Given the description of an element on the screen output the (x, y) to click on. 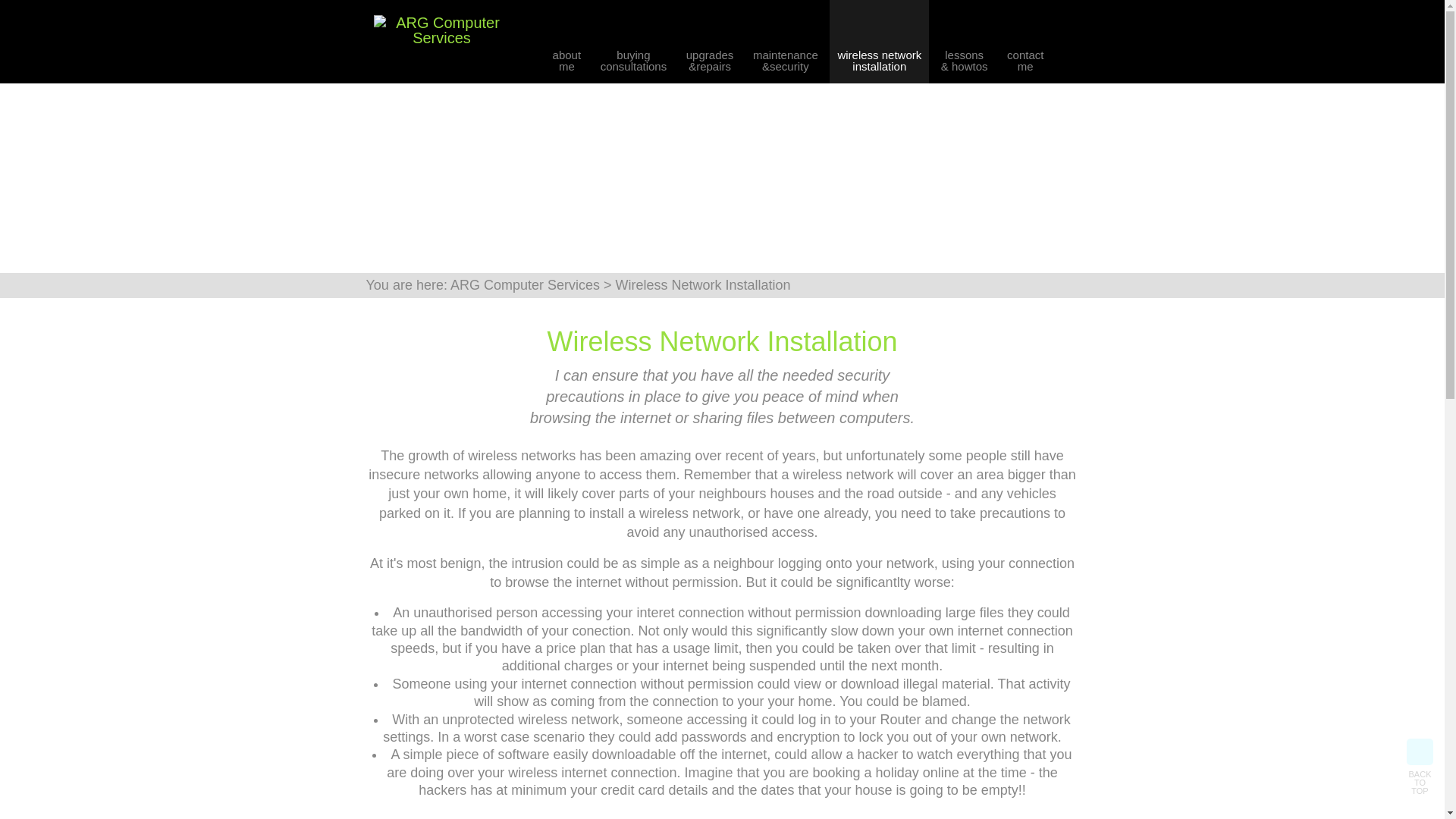
ARG Computer Services (440, 30)
BACK TO TOP (633, 47)
View ARG Computer Services homepage (1024, 47)
Return to ARG Computer Services homepage (1419, 766)
View Buying Consultations (878, 47)
Contact Me by Email (440, 37)
ARG Computer Services (524, 284)
Find Out About Me (633, 47)
View Wireless Network Installation (1024, 47)
